Given the description of an element on the screen output the (x, y) to click on. 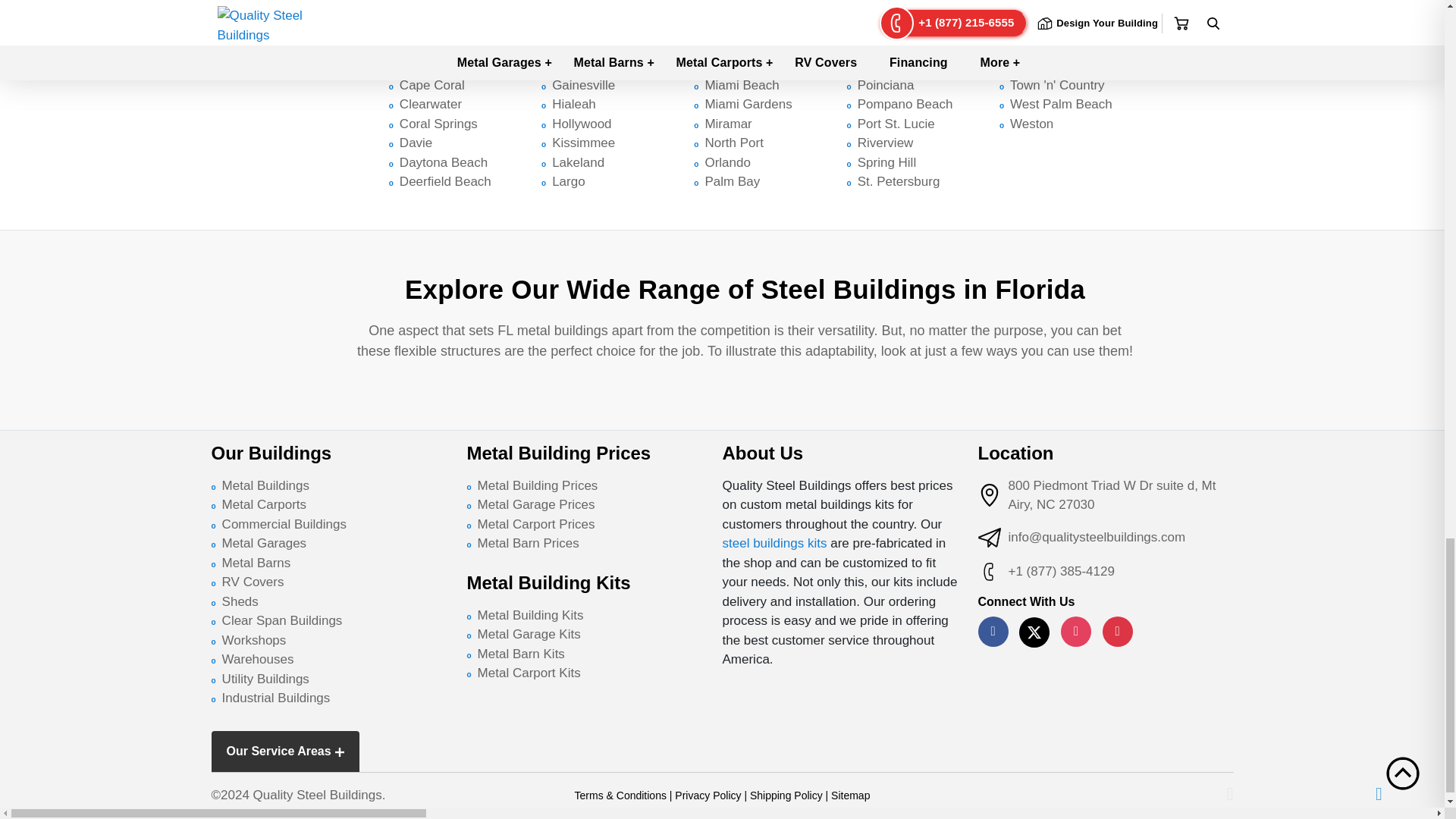
youtube (1117, 631)
facebook (993, 631)
instagram (1075, 631)
twitter (1034, 632)
